Given the description of an element on the screen output the (x, y) to click on. 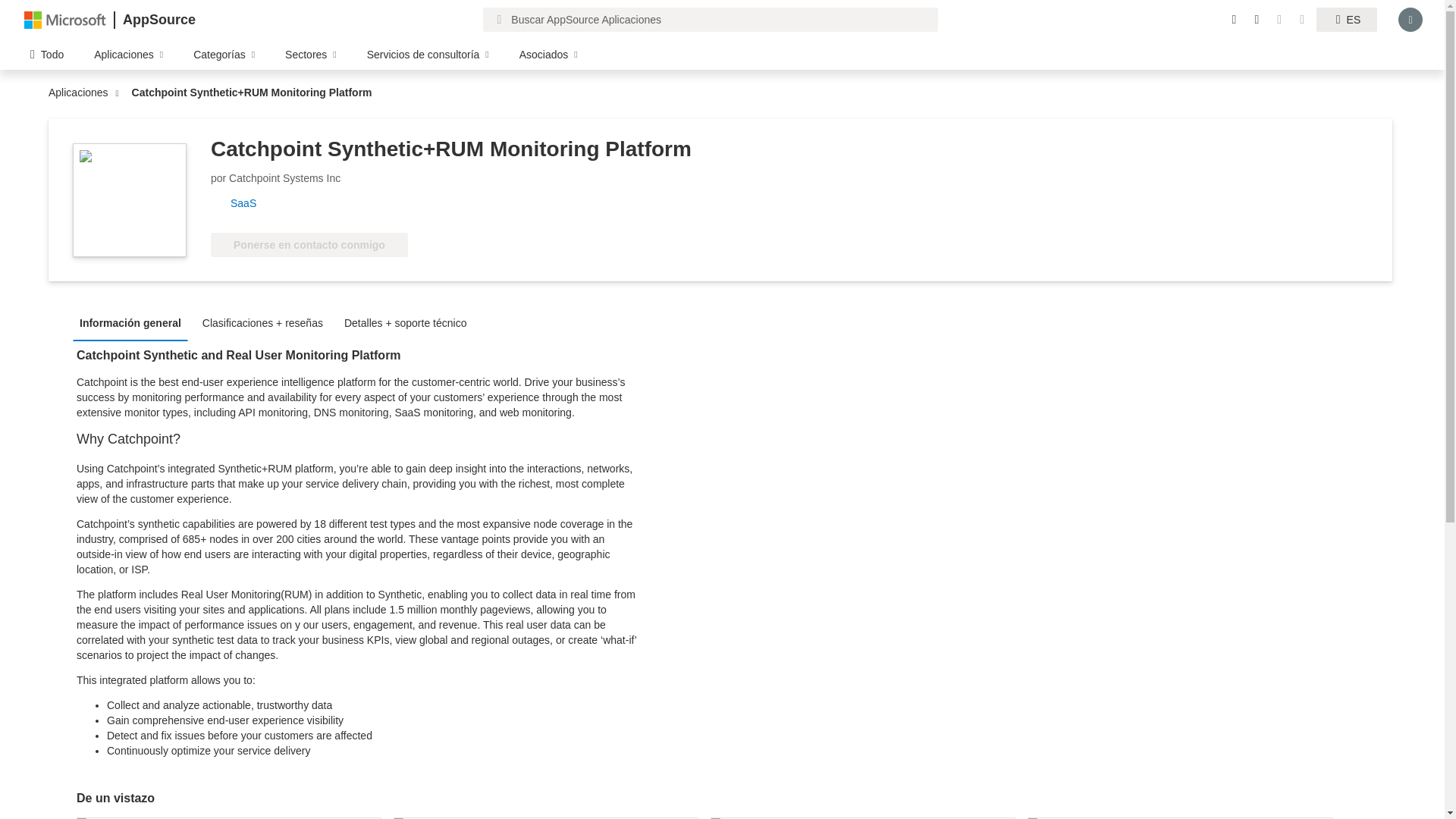
AppSource (158, 19)
SaaS (248, 203)
Ponerse en contacto conmigo (309, 244)
Aplicaciones (82, 92)
SaaS (248, 203)
Microsoft (65, 18)
